Given the description of an element on the screen output the (x, y) to click on. 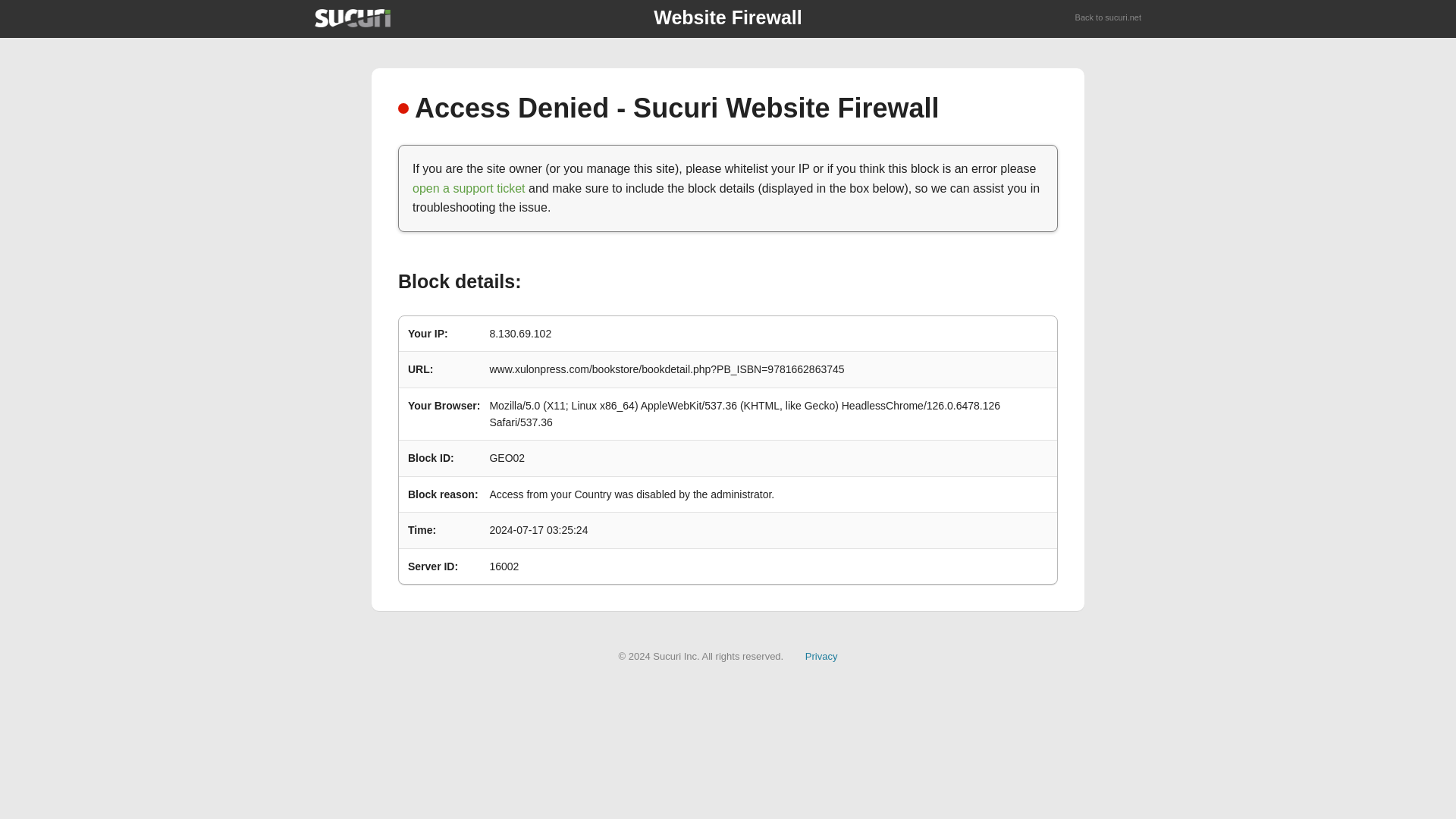
Back to sucuri.net (1108, 18)
Privacy (821, 655)
open a support ticket (468, 187)
